Given the description of an element on the screen output the (x, y) to click on. 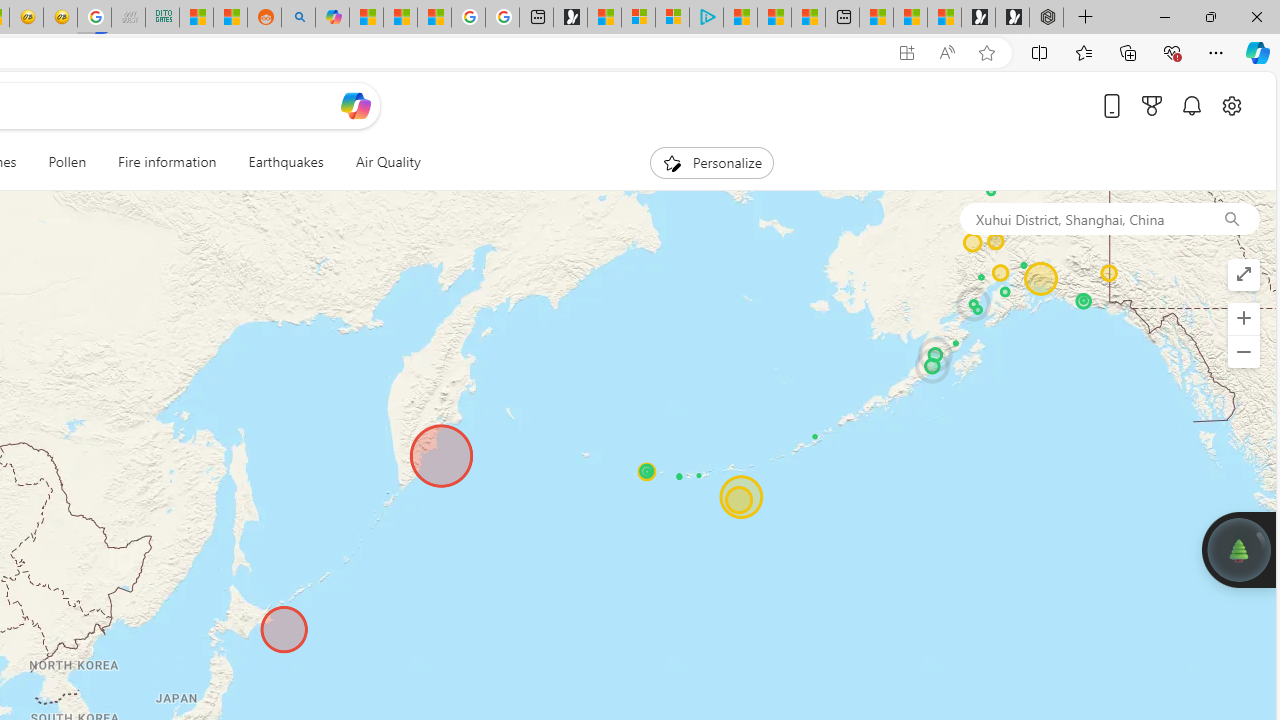
Air Quality (380, 162)
Nordace - Nordace Siena Is Not An Ordinary Backpack (1046, 17)
Browser essentials (1171, 52)
Close (1256, 16)
Add this page to favorites (Ctrl+D) (986, 53)
Split screen (1039, 52)
Play Free Online Games | Games from Microsoft Start (1012, 17)
Microsoft Start Gaming (570, 17)
Earthquakes (285, 162)
Zoom out (1243, 351)
Navy Quest (127, 17)
